Given the description of an element on the screen output the (x, y) to click on. 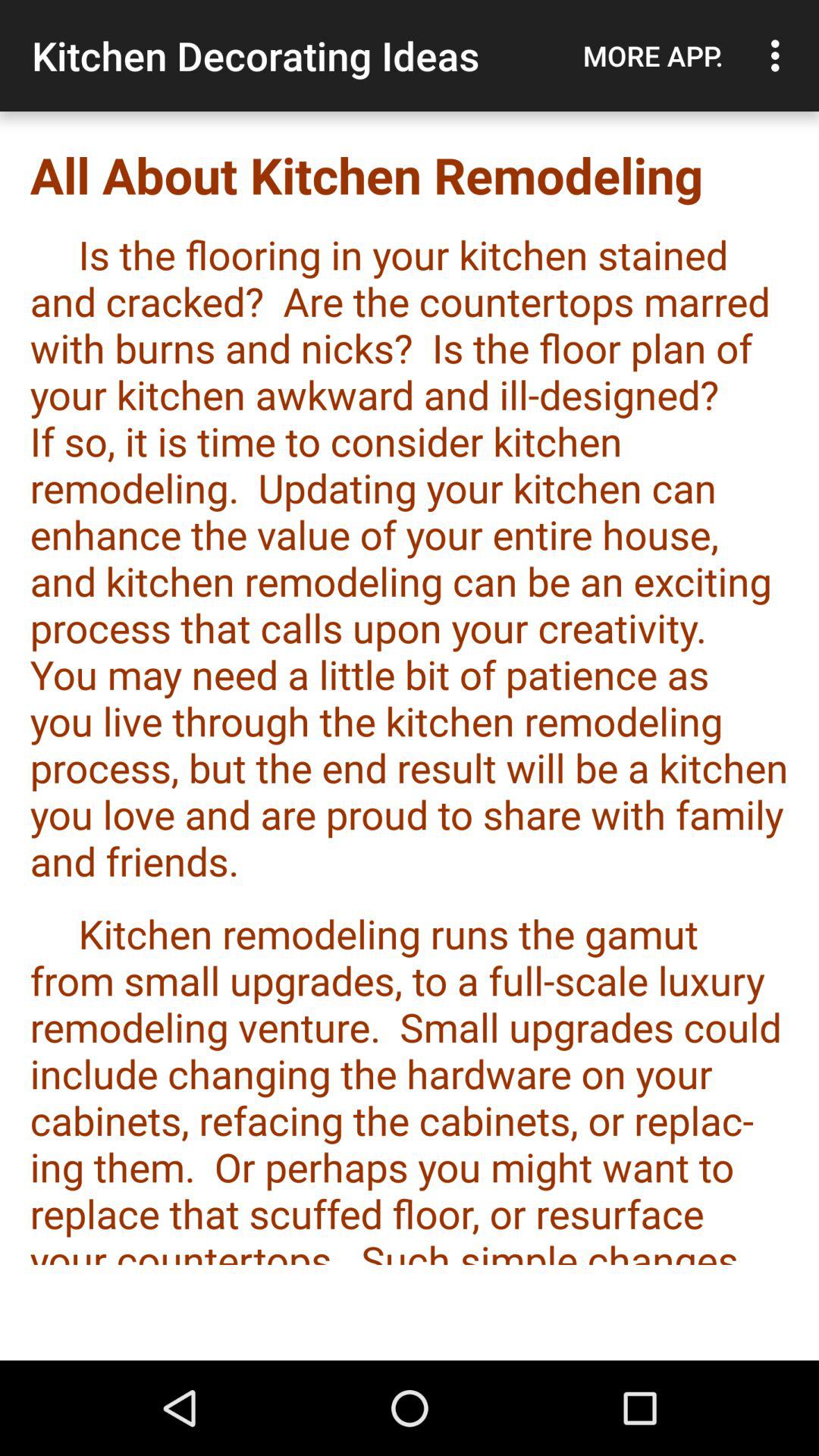
tap icon above all about kitchen app (653, 55)
